Given the description of an element on the screen output the (x, y) to click on. 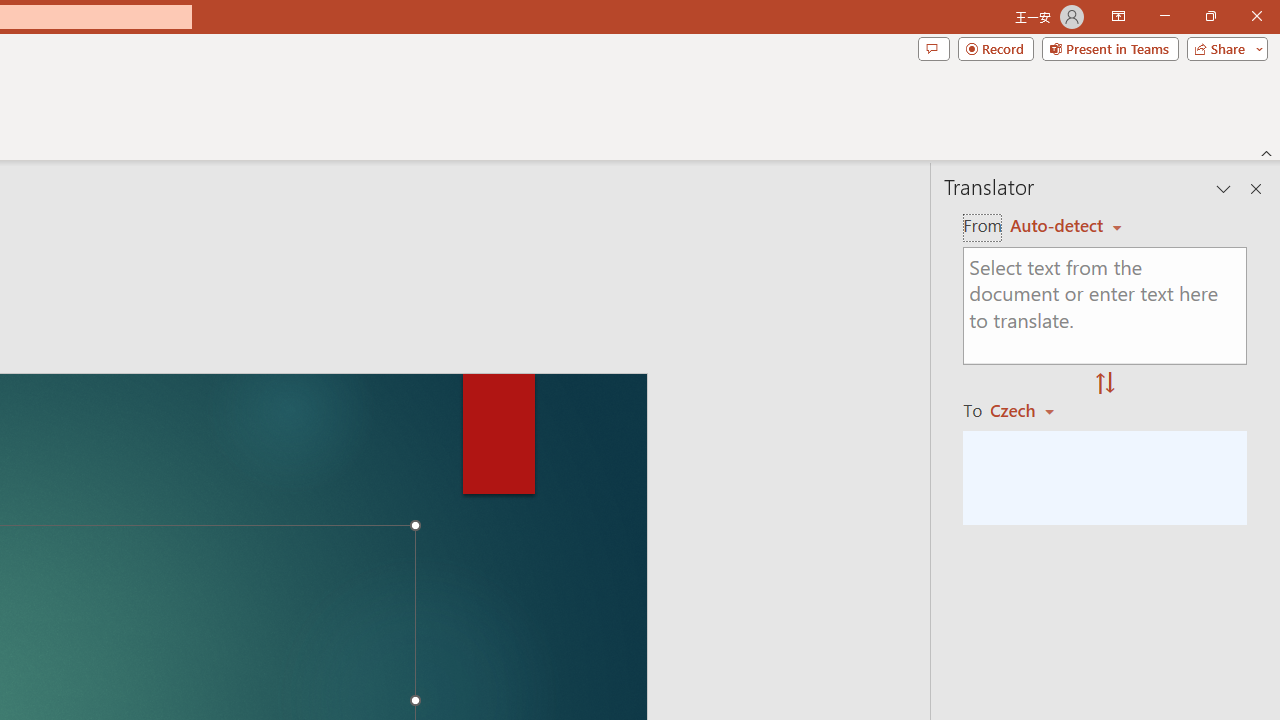
Auto-detect (1066, 225)
Swap "from" and "to" languages. (1105, 383)
Czech (1030, 409)
